Given the description of an element on the screen output the (x, y) to click on. 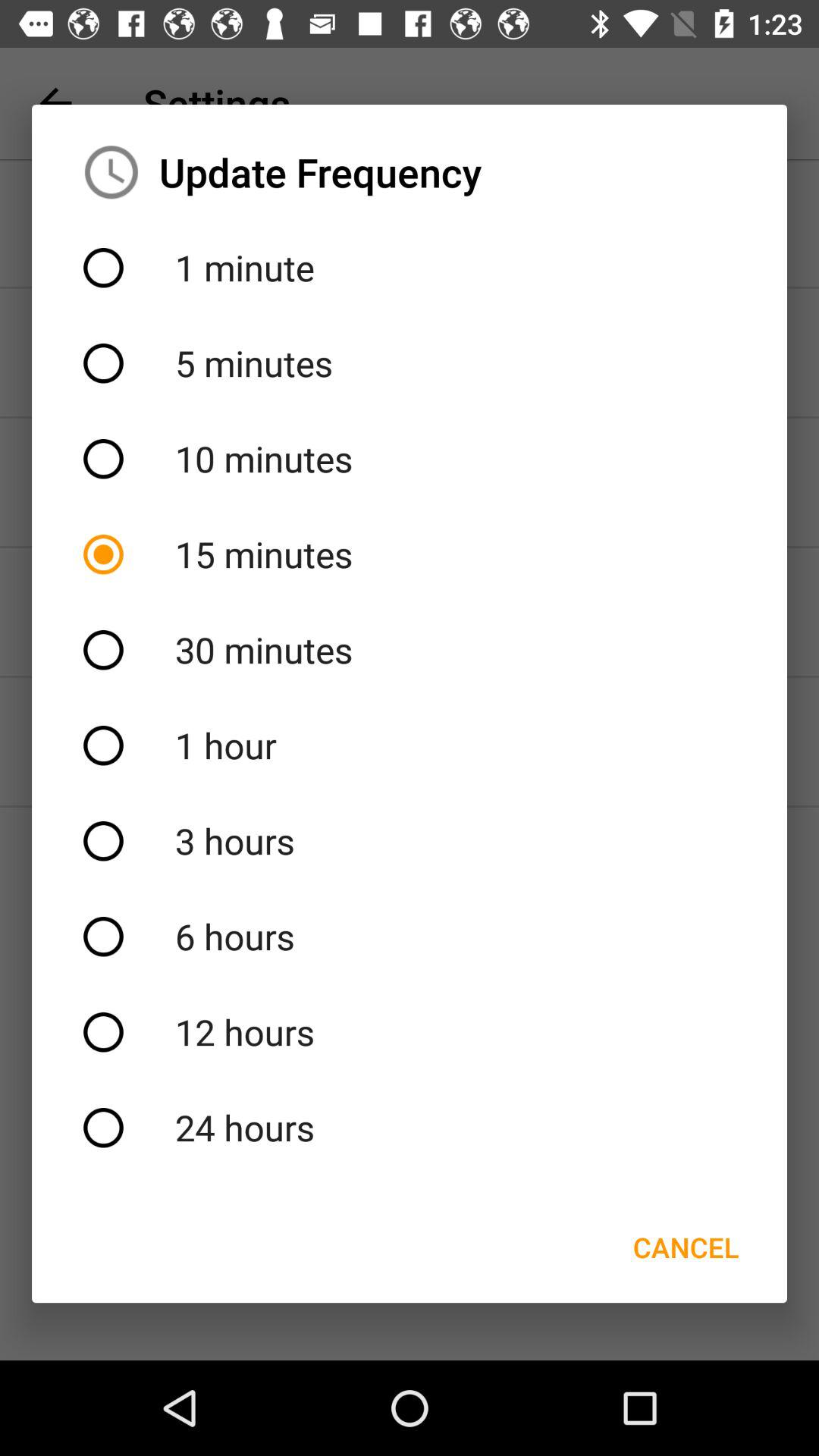
tap icon below 30 minutes icon (409, 745)
